Given the description of an element on the screen output the (x, y) to click on. 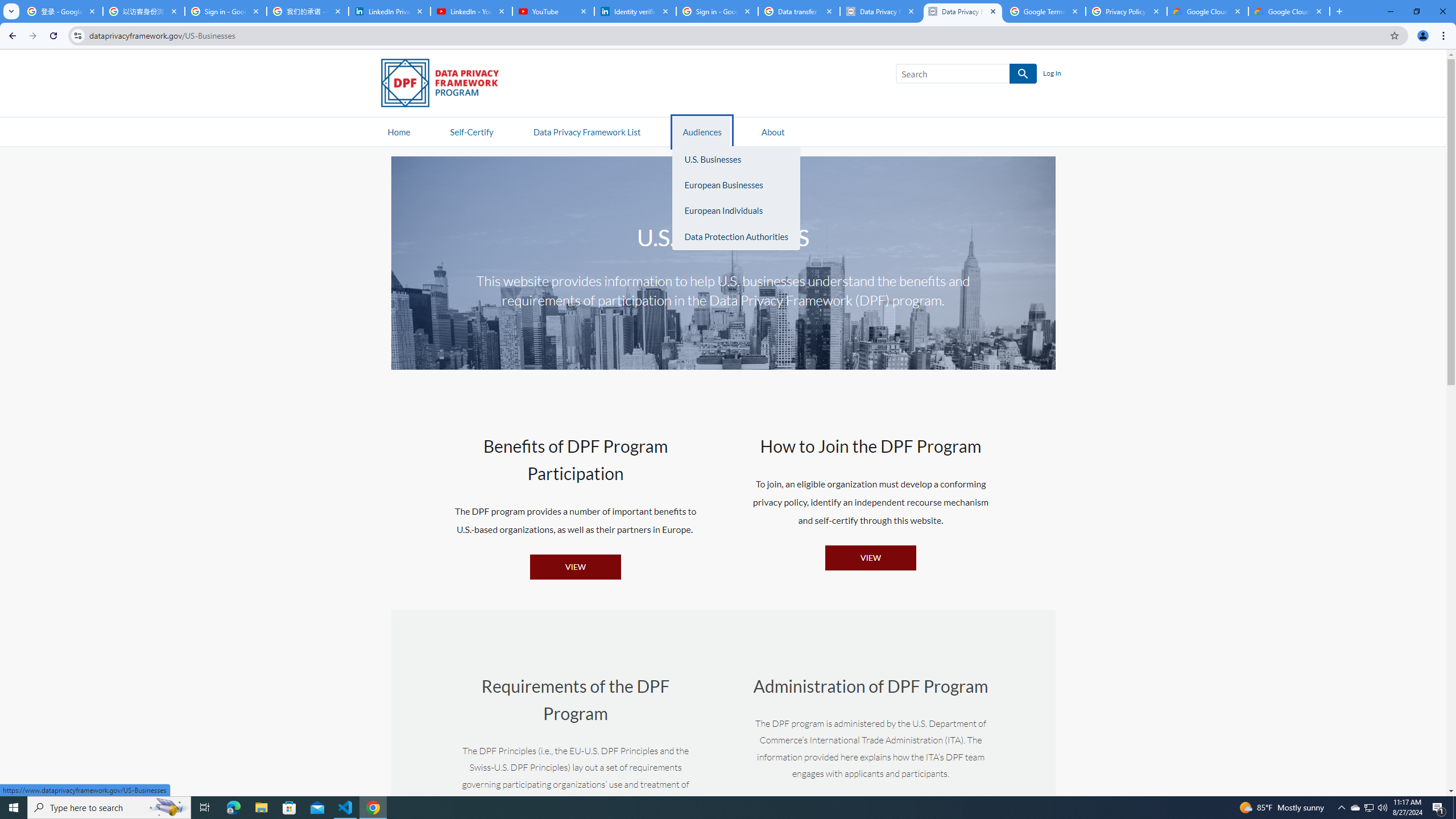
Identity verification via Persona | LinkedIn Help (635, 11)
VIEW (870, 557)
